Given the description of an element on the screen output the (x, y) to click on. 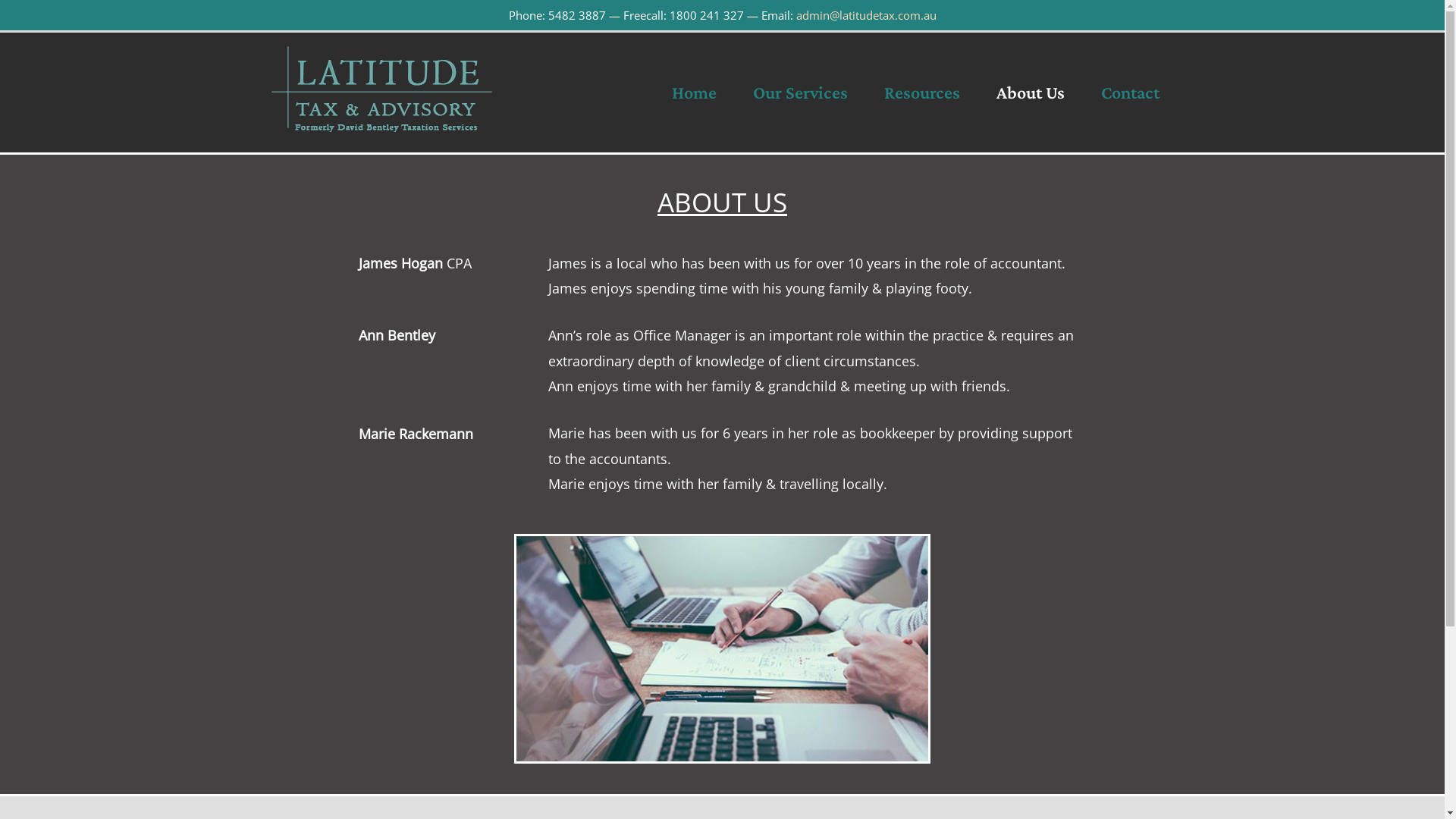
Contact Element type: text (1129, 92)
Our Services Element type: text (799, 92)
About Us Element type: text (1030, 92)
admin@latitudetax.com.au Element type: text (866, 14)
Home Element type: text (693, 92)
Latitude Tax & Advisory, Gympie. Element type: hover (722, 648)
Resources Element type: text (922, 92)
